Given the description of an element on the screen output the (x, y) to click on. 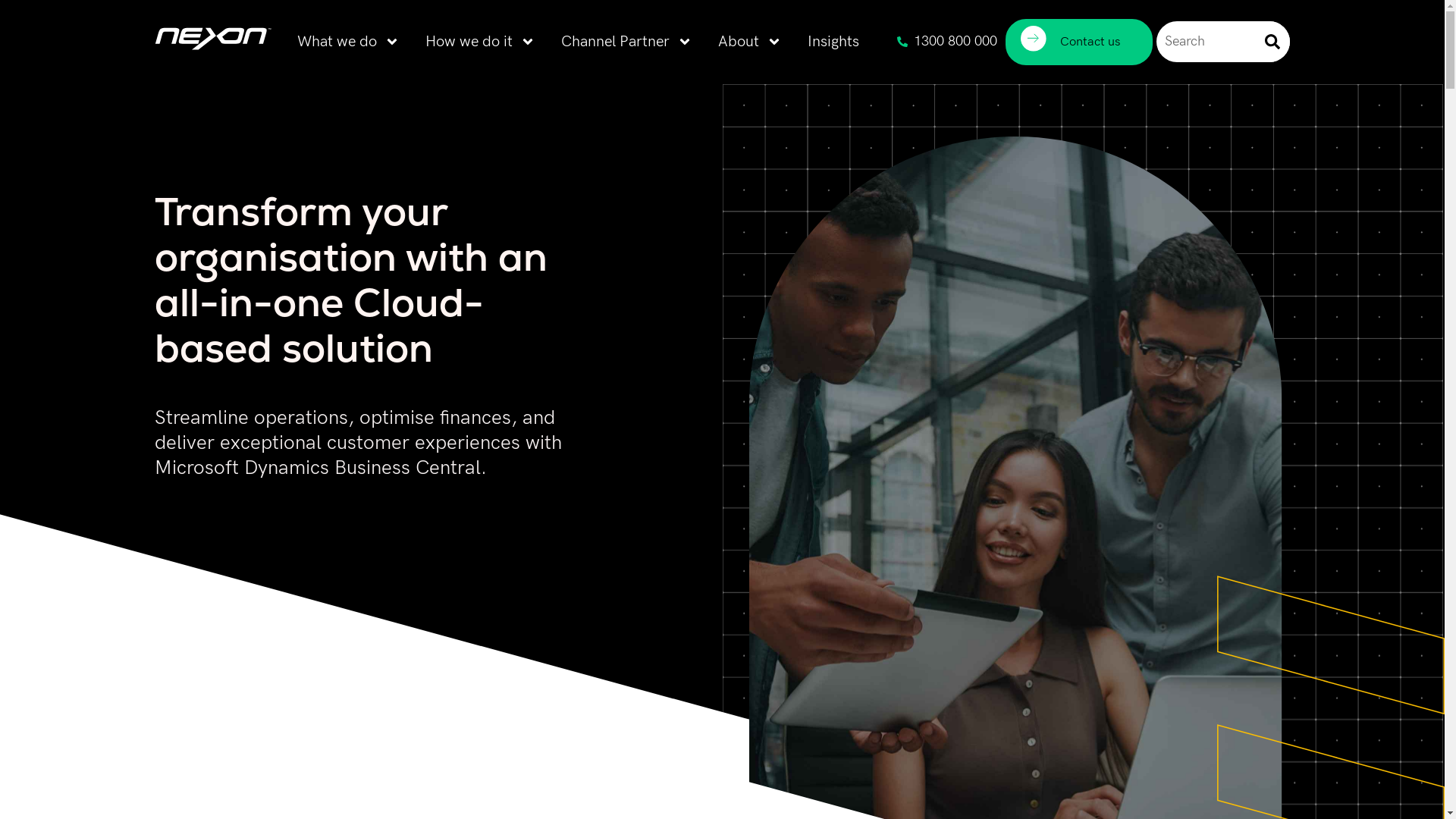
Channel Partner Element type: text (626, 41)
1300 800 000 Element type: text (946, 41)
How we do it Element type: text (480, 41)
Contact us Element type: text (1078, 41)
About Element type: text (749, 41)
What we do Element type: text (348, 41)
Insights Element type: text (833, 41)
Nexon Asia Pacific Element type: text (212, 57)
